Given the description of an element on the screen output the (x, y) to click on. 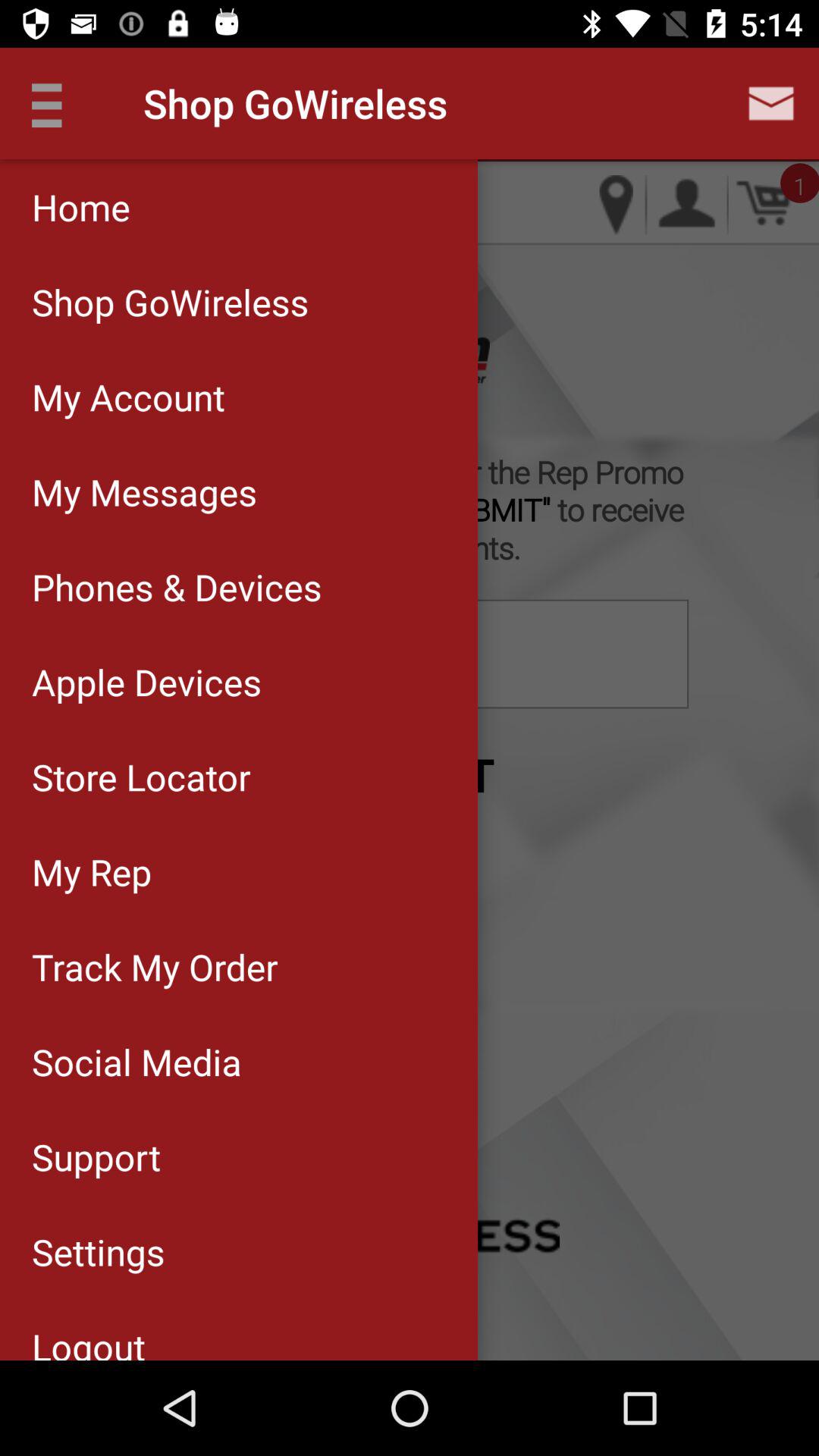
turn off icon above track my order icon (238, 871)
